Given the description of an element on the screen output the (x, y) to click on. 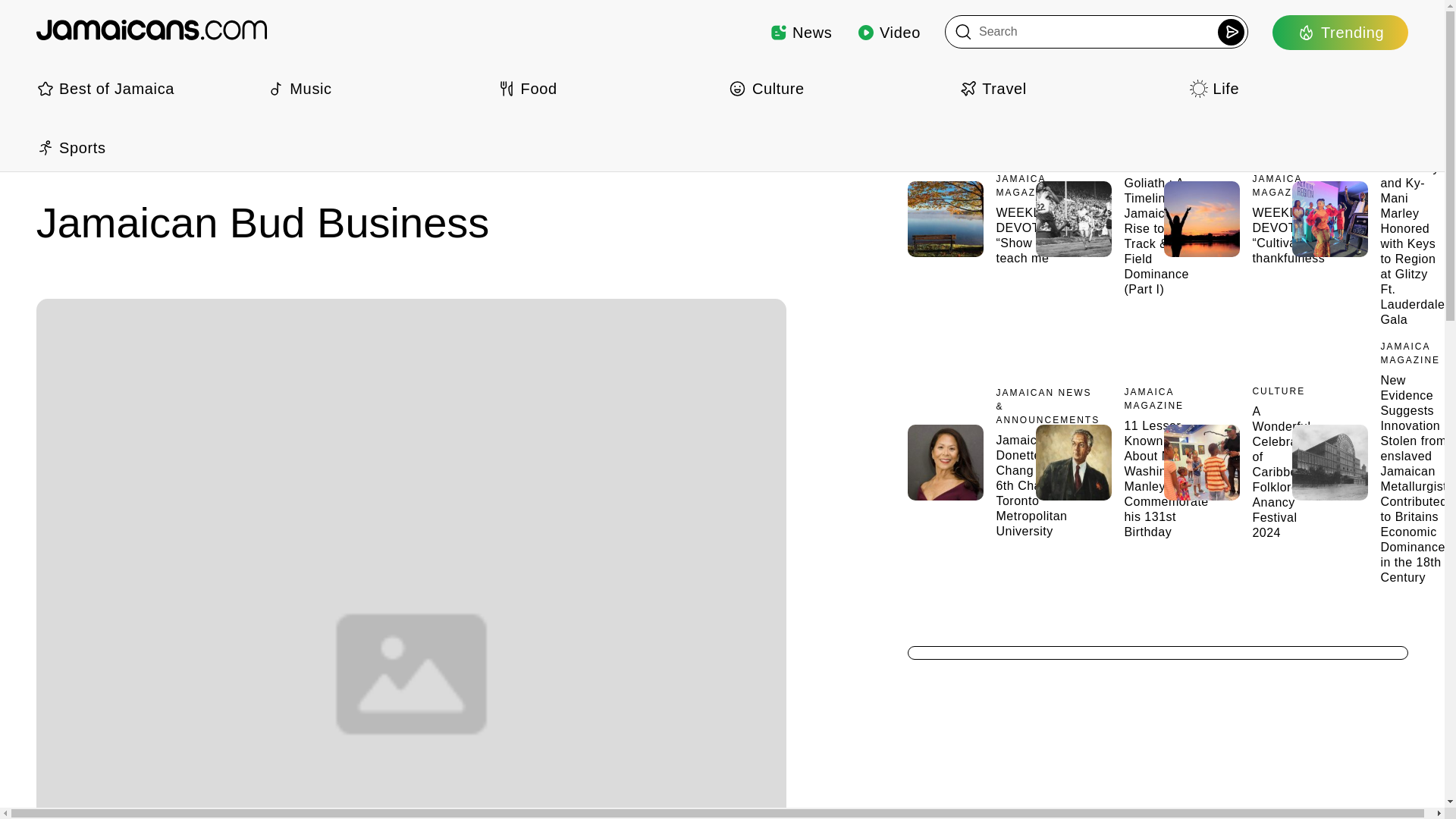
Trending (1339, 32)
Life (1298, 88)
Best of Jamaica (145, 88)
Travel (1068, 88)
News (800, 32)
Sports (145, 147)
Culture (837, 88)
Music (375, 88)
Food (606, 88)
Video (888, 32)
